Given the description of an element on the screen output the (x, y) to click on. 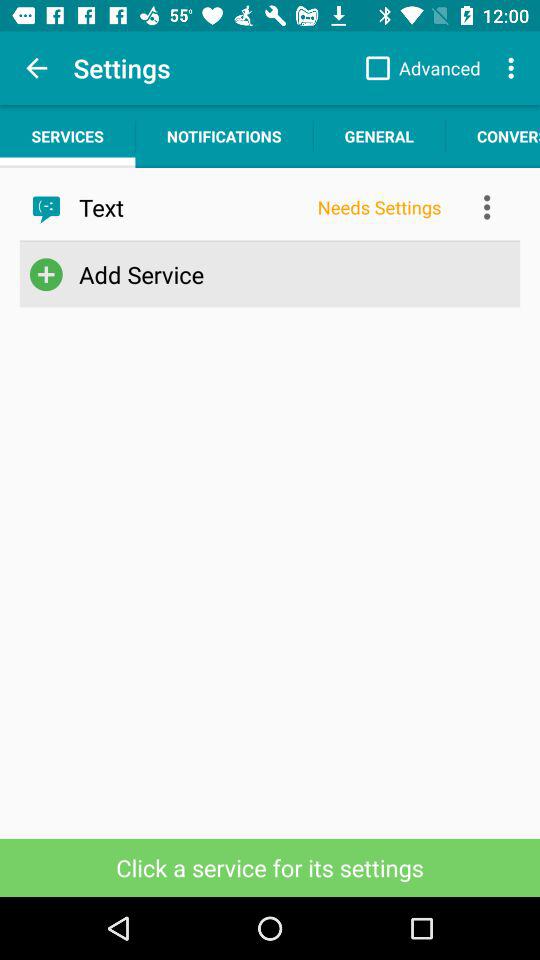
turn off app to the right of settings item (418, 68)
